Given the description of an element on the screen output the (x, y) to click on. 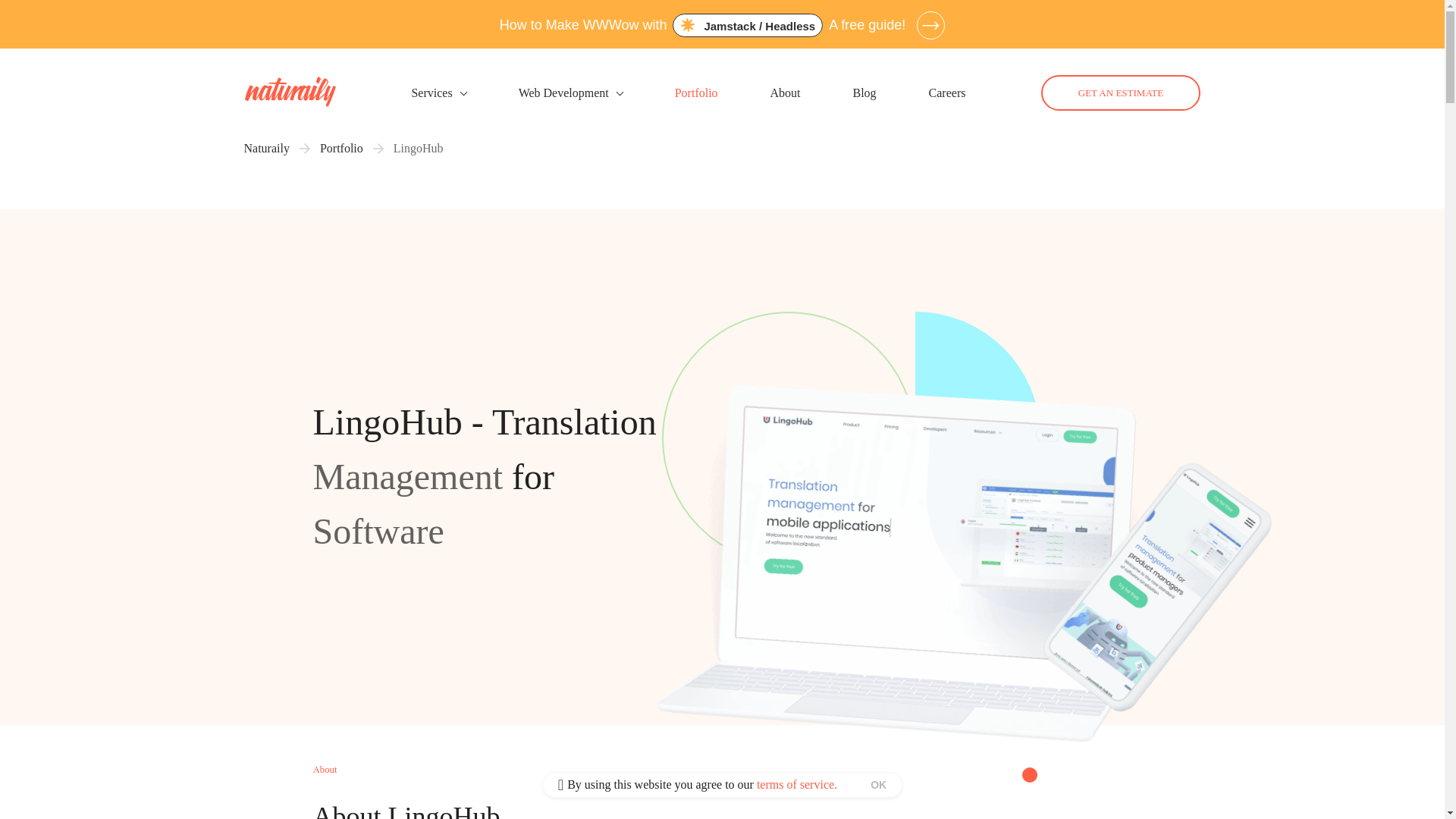
Services (430, 92)
Naturaily (266, 148)
Portfolio (341, 148)
OK (878, 784)
GET AN ESTIMATE (1120, 92)
Chatbot (1383, 758)
terms of service. (797, 784)
Web Development (569, 87)
Web Development (563, 92)
